Given the description of an element on the screen output the (x, y) to click on. 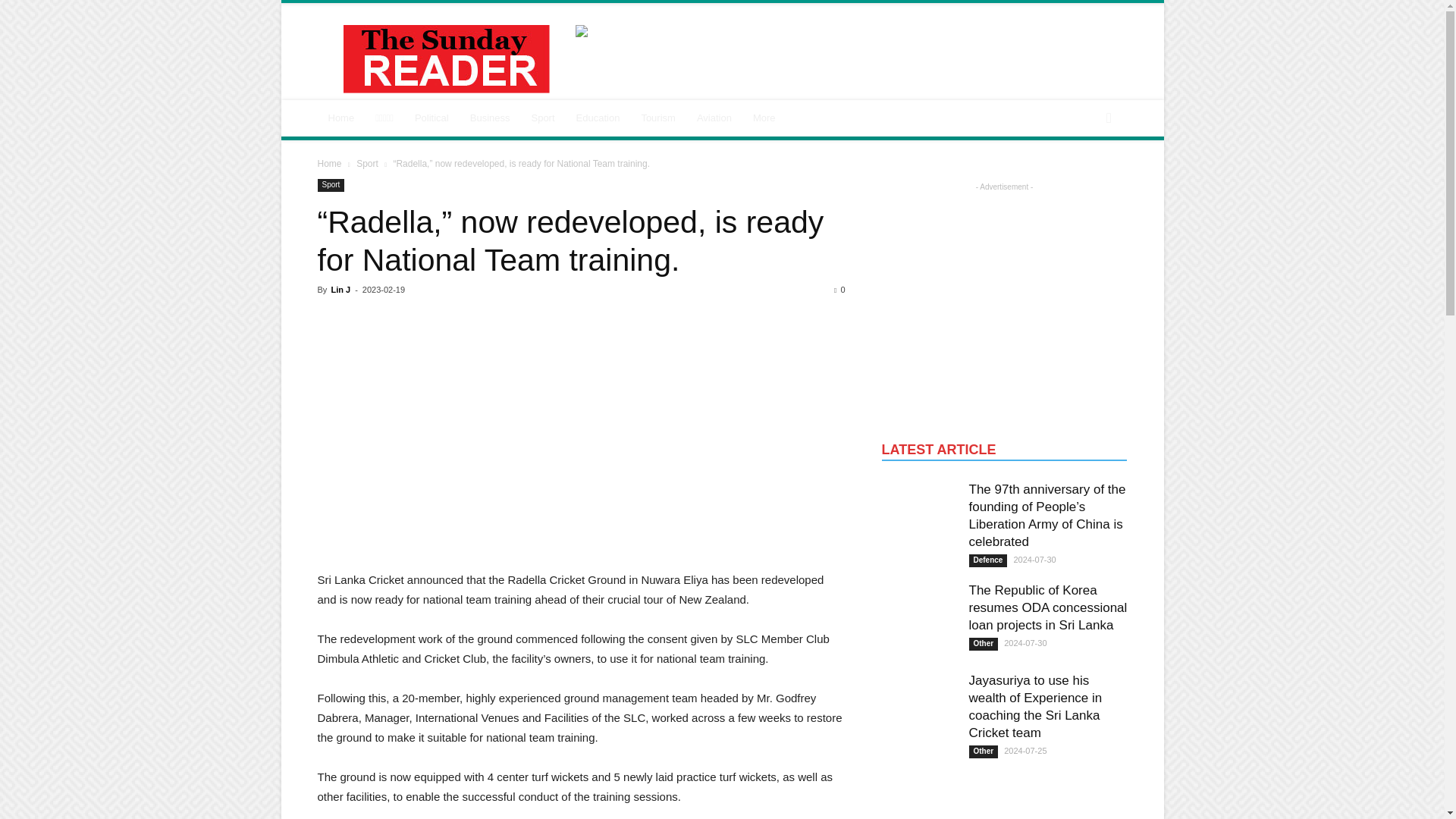
Political (432, 117)
Tourism (657, 117)
Sport (541, 117)
Business (490, 117)
Aviation (713, 117)
Home (341, 117)
View all posts in Sport (367, 163)
More (764, 117)
Search (1083, 178)
Education (598, 117)
